Given the description of an element on the screen output the (x, y) to click on. 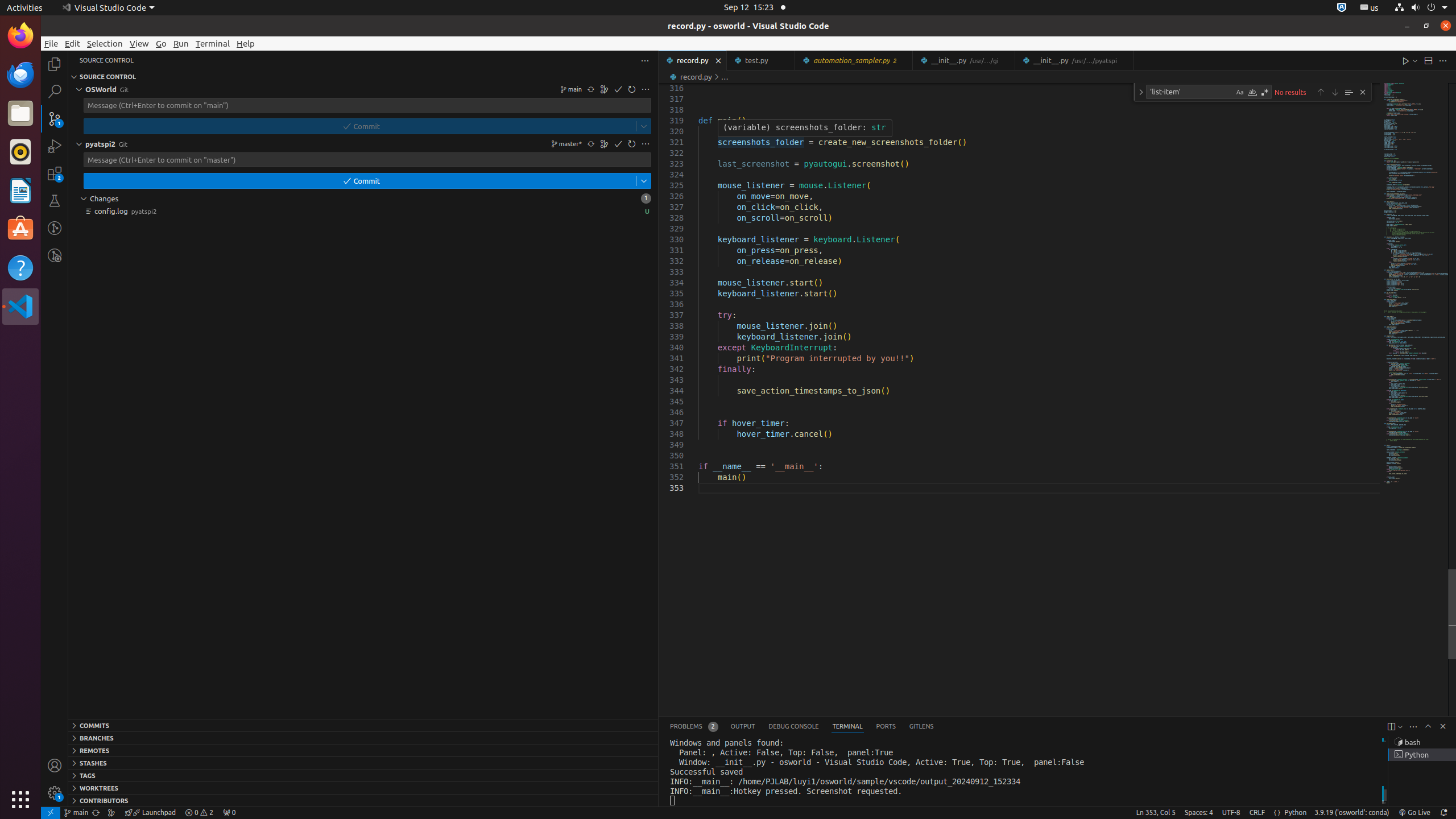
Match Whole Word (Alt+W) Element type: check-box (1252, 91)
master*, Checkout Branch/Tag... Element type: push-button (565, 143)
